Given the description of an element on the screen output the (x, y) to click on. 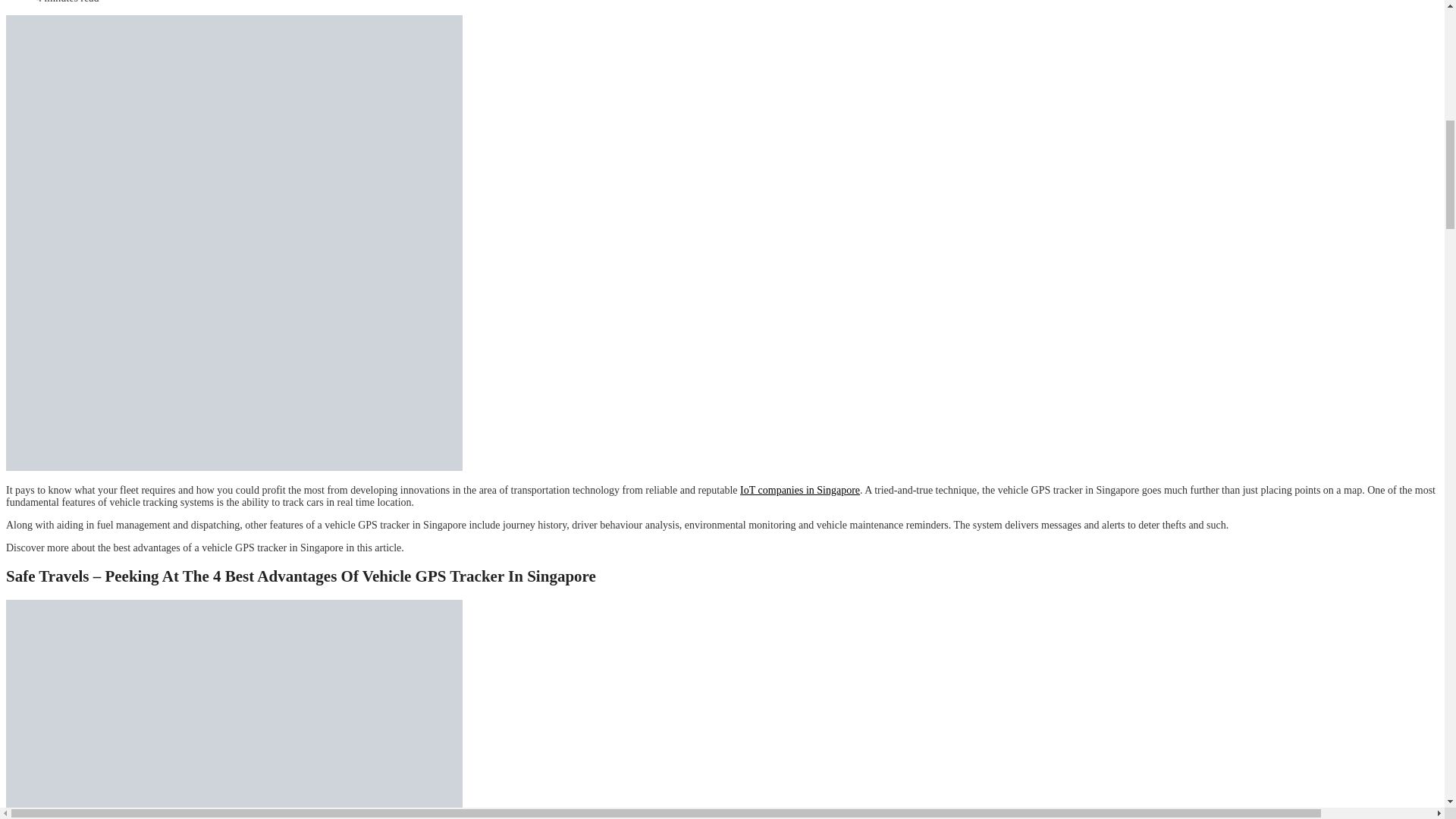
IoT companies in Singapore (799, 490)
